Given the description of an element on the screen output the (x, y) to click on. 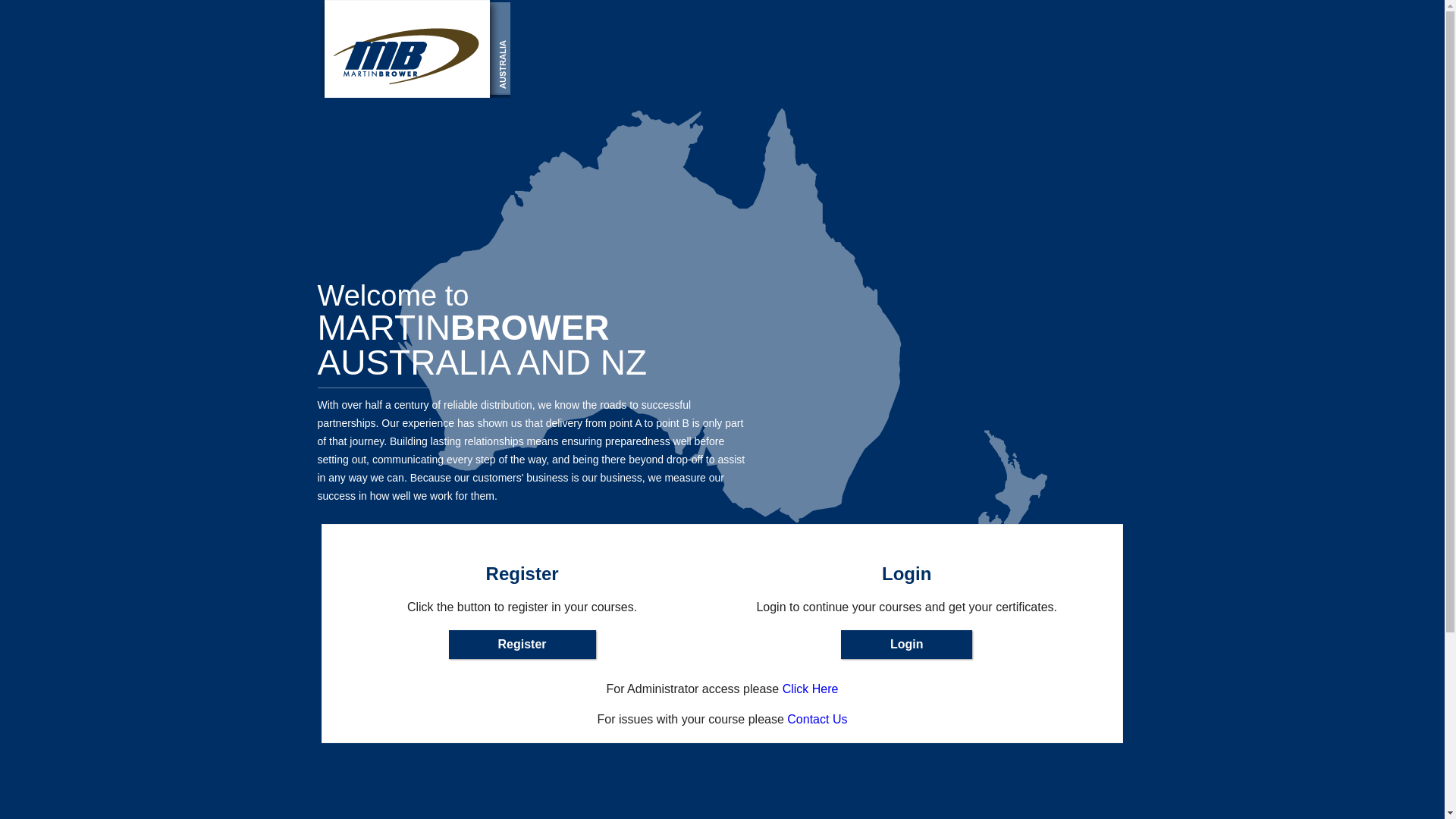
Contact Us Element type: text (817, 718)
Register Element type: text (522, 644)
Click Here Element type: text (810, 688)
Login Element type: text (906, 644)
Martin Bower Element type: text (412, 48)
